Given the description of an element on the screen output the (x, y) to click on. 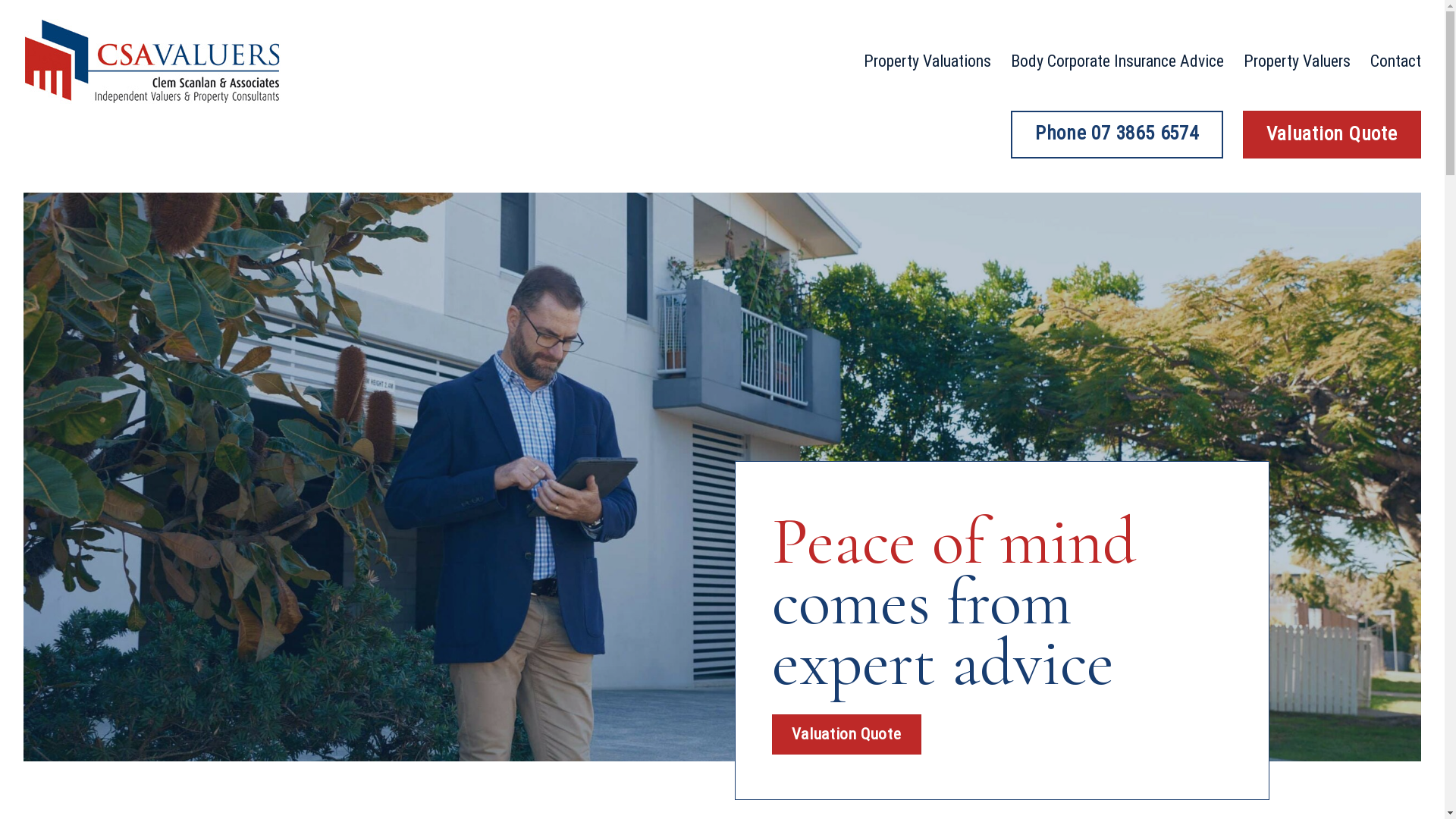
Contact Element type: text (1395, 61)
Phone 07 3865 6574 Element type: text (1116, 134)
Valuation Quote Element type: text (846, 734)
Property Valuations Element type: text (927, 61)
Valuation Quote Element type: text (1331, 134)
Property Valuers Element type: text (1296, 61)
Body Corporate Insurance Advice Element type: text (1116, 61)
